Given the description of an element on the screen output the (x, y) to click on. 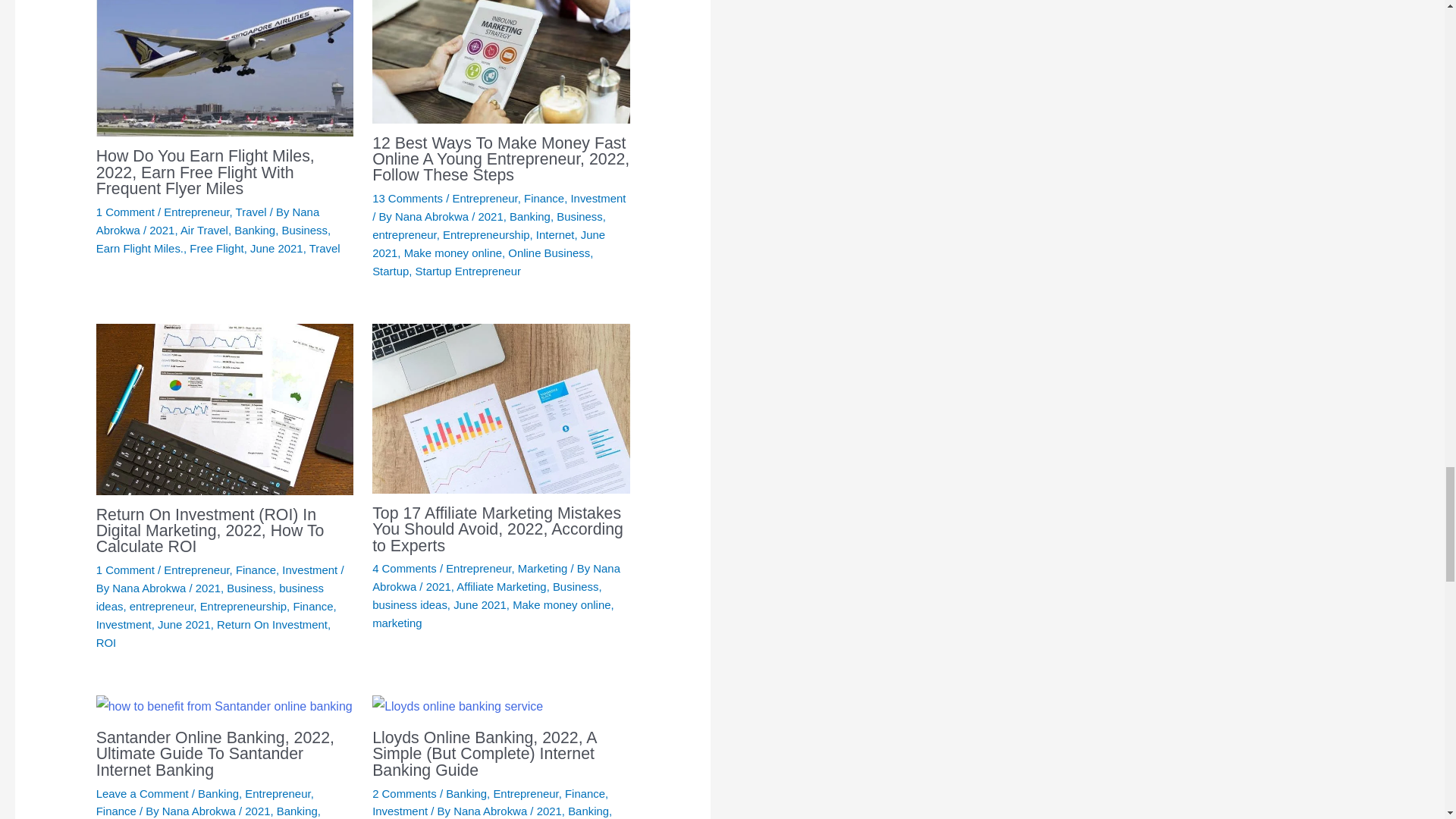
View all posts by Nana Abrokwa (432, 215)
View all posts by Nana Abrokwa (207, 220)
Entrepreneur (195, 211)
1 Comment (125, 211)
View all posts by Nana Abrokwa (150, 587)
